Given the description of an element on the screen output the (x, y) to click on. 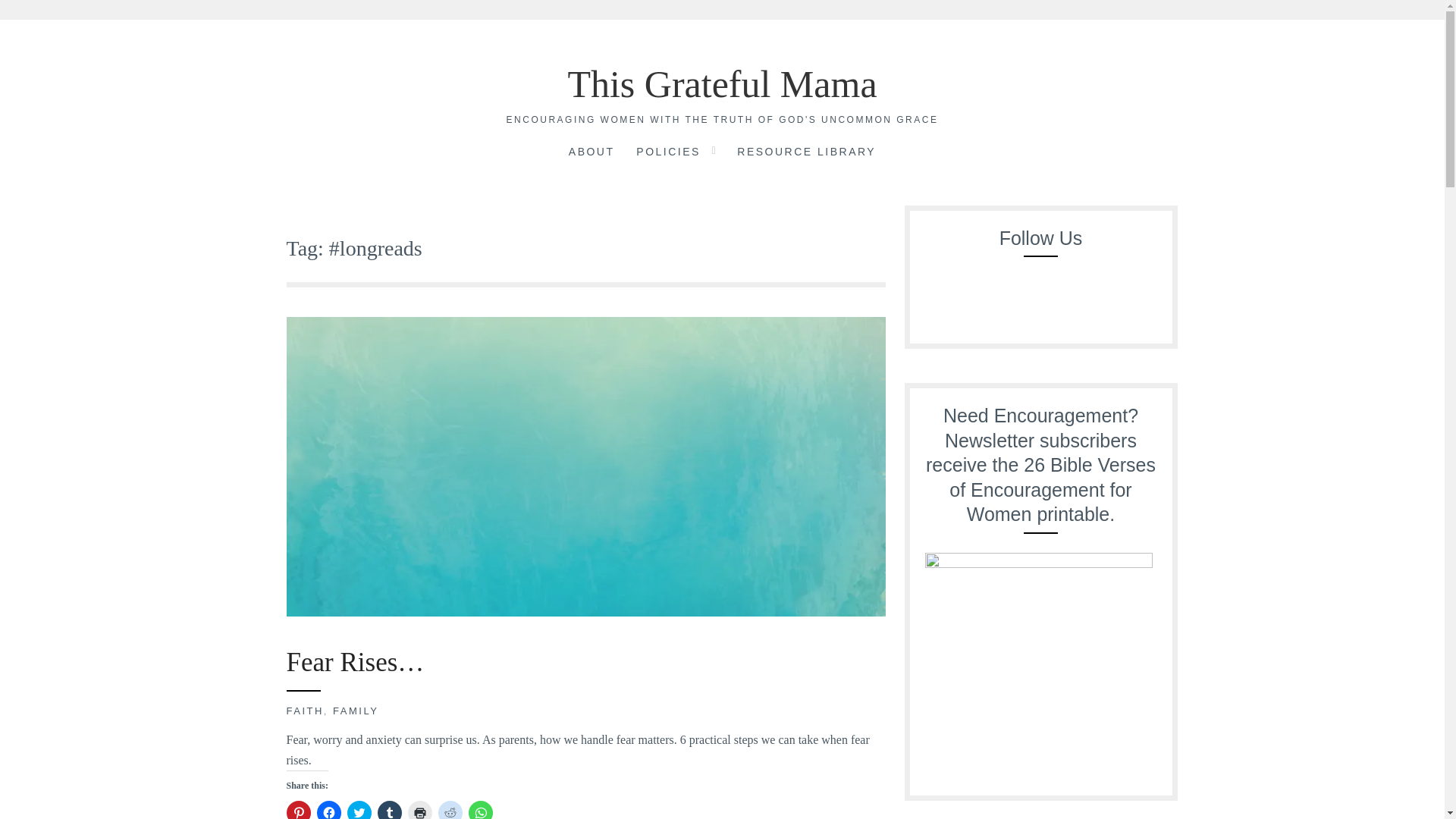
Click to share on Pinterest (298, 809)
Click to share on Facebook (328, 809)
POLICIES (668, 152)
FAMILY (355, 710)
Click to share on WhatsApp (480, 809)
Click to share on Twitter (359, 809)
Click to share on Reddit (450, 809)
Click to share on Tumblr (389, 809)
This Grateful Mama (721, 84)
FAITH (304, 710)
Click to print (419, 809)
RESOURCE LIBRARY (806, 152)
ABOUT (591, 152)
